Given the description of an element on the screen output the (x, y) to click on. 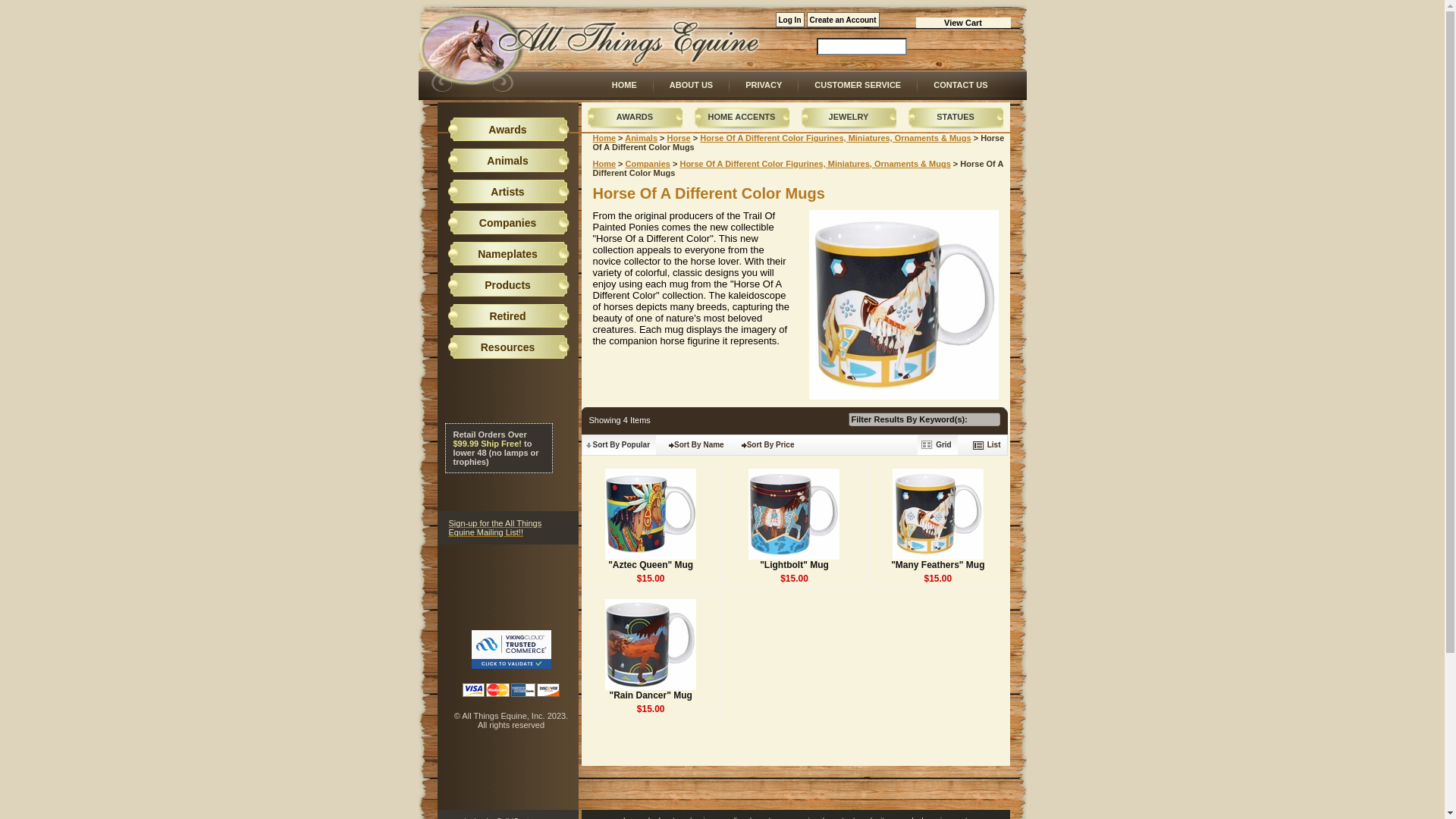
View Cart (962, 22)
ABOUT US (690, 90)
Create an Account (842, 19)
Horse (678, 137)
PRIVACY (763, 90)
HOME ACCENTS (741, 114)
Animals (641, 137)
"Lightbolt" Mug (794, 564)
"Rain Dancer" Mug (649, 695)
"Many Feathers" Mug (937, 564)
